Given the description of an element on the screen output the (x, y) to click on. 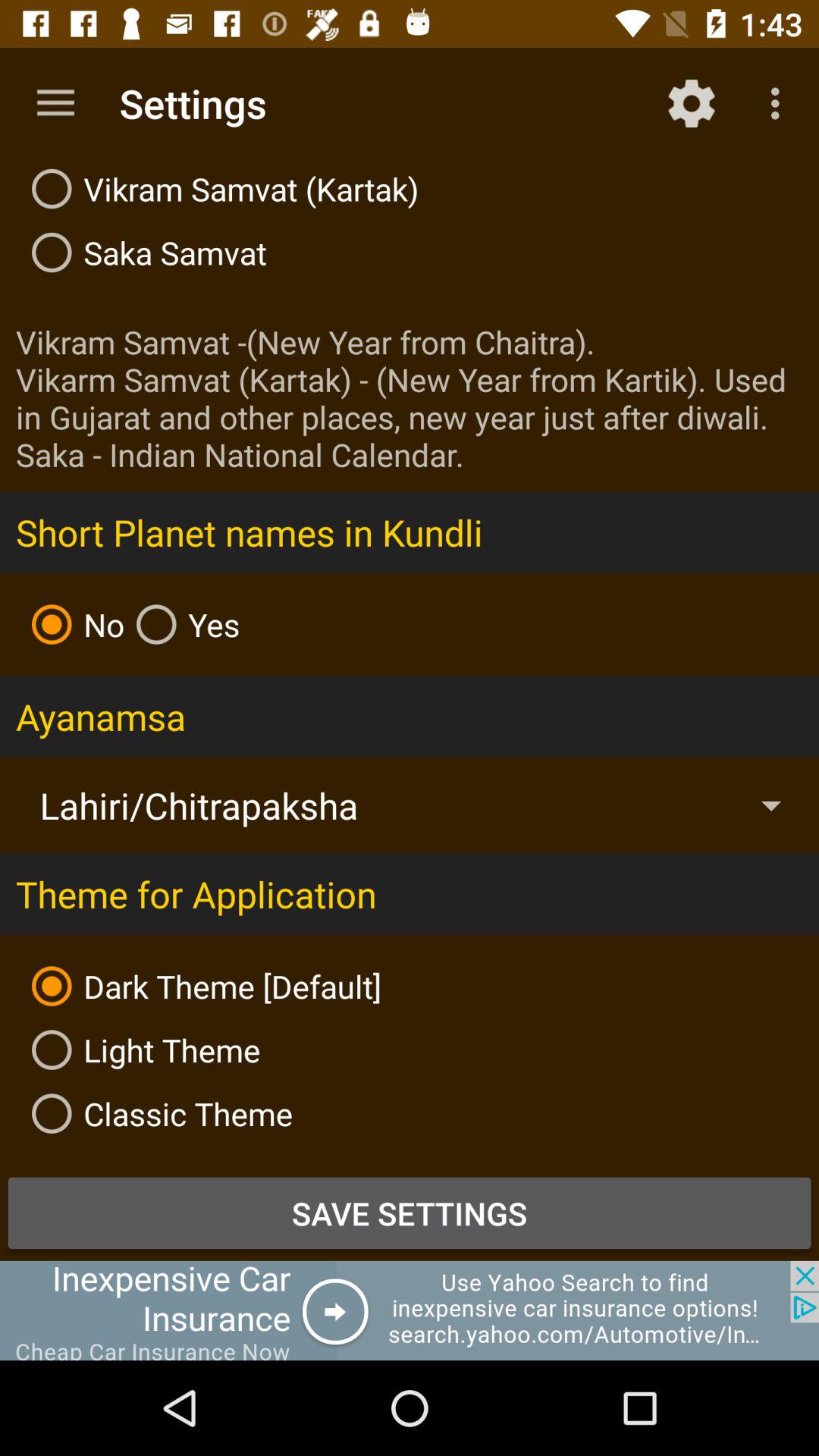
activate an advertisement (409, 1310)
